Given the description of an element on the screen output the (x, y) to click on. 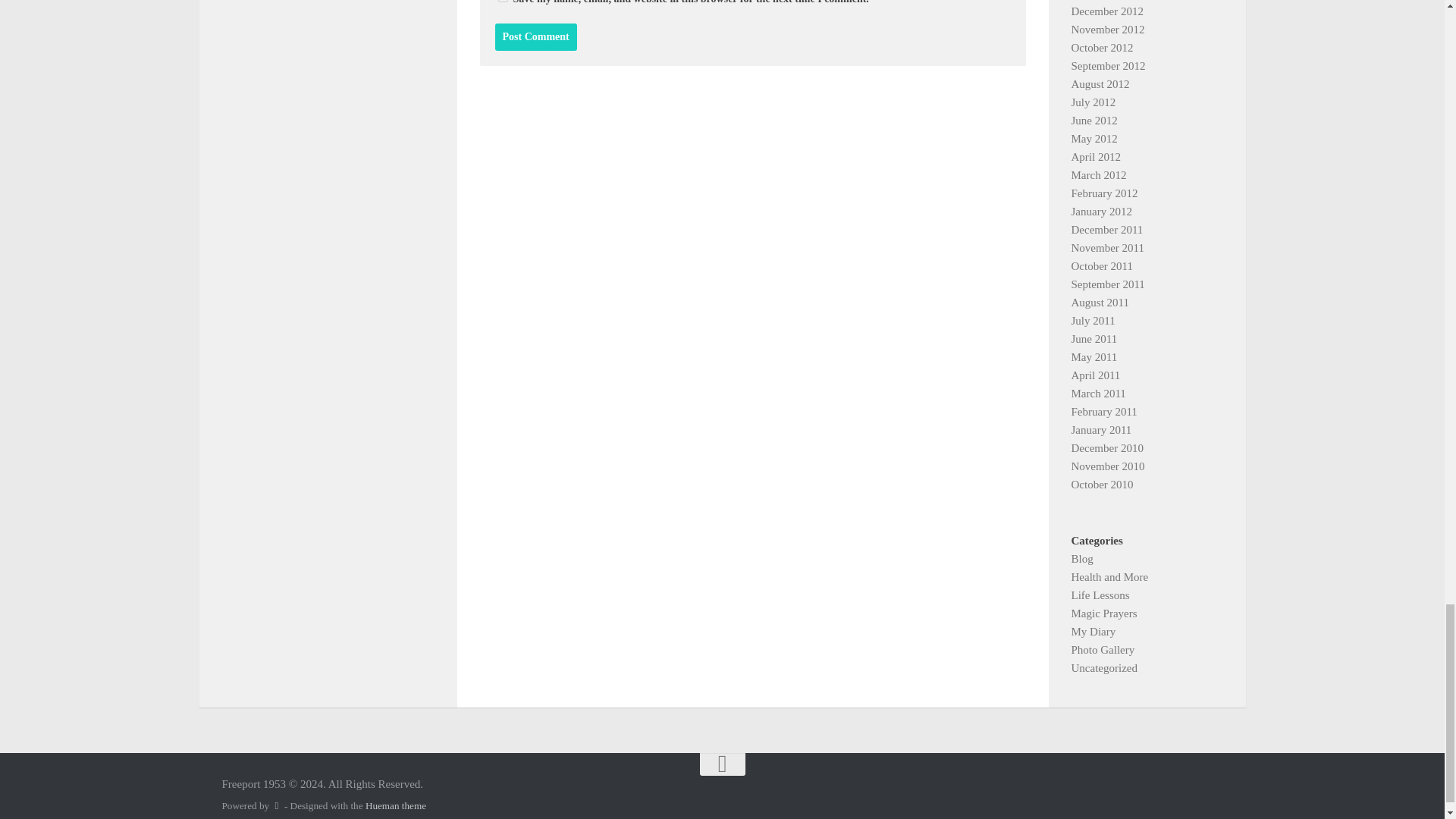
Post Comment (535, 36)
